Given the description of an element on the screen output the (x, y) to click on. 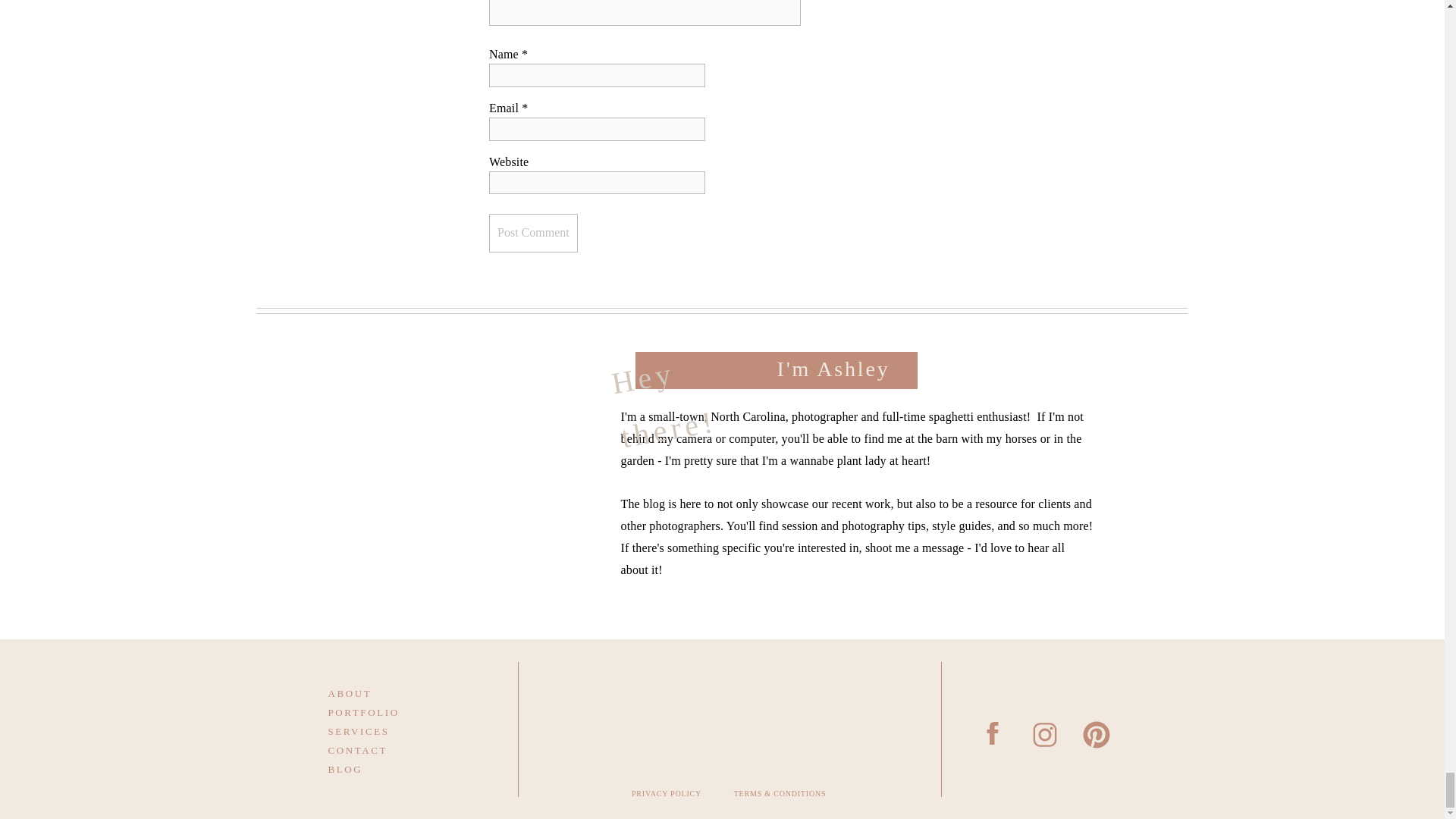
PORTFOLIO (384, 711)
Post Comment (533, 232)
PRIVACY POLICY (666, 797)
ABOUT (384, 692)
CONTACT (384, 749)
BLOG (384, 767)
SERVICES (384, 729)
Post Comment (533, 232)
